Given the description of an element on the screen output the (x, y) to click on. 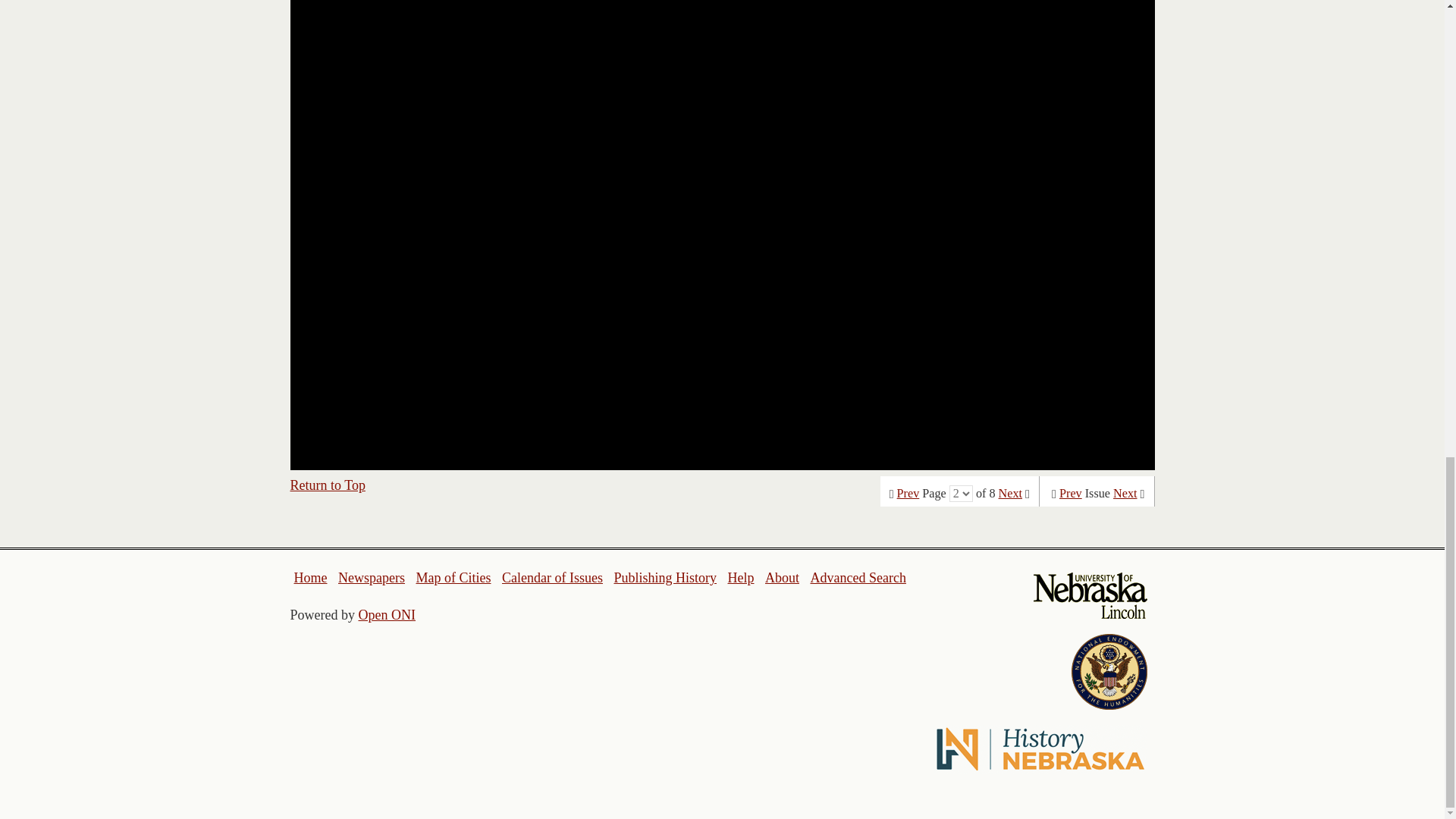
Next (1010, 493)
Prev (1070, 493)
Advanced Search (857, 577)
Next (1125, 493)
Home (310, 577)
Open ONI (386, 614)
Prev (908, 493)
Return to Top (327, 485)
Newspapers (370, 577)
Publishing History (664, 577)
